Given the description of an element on the screen output the (x, y) to click on. 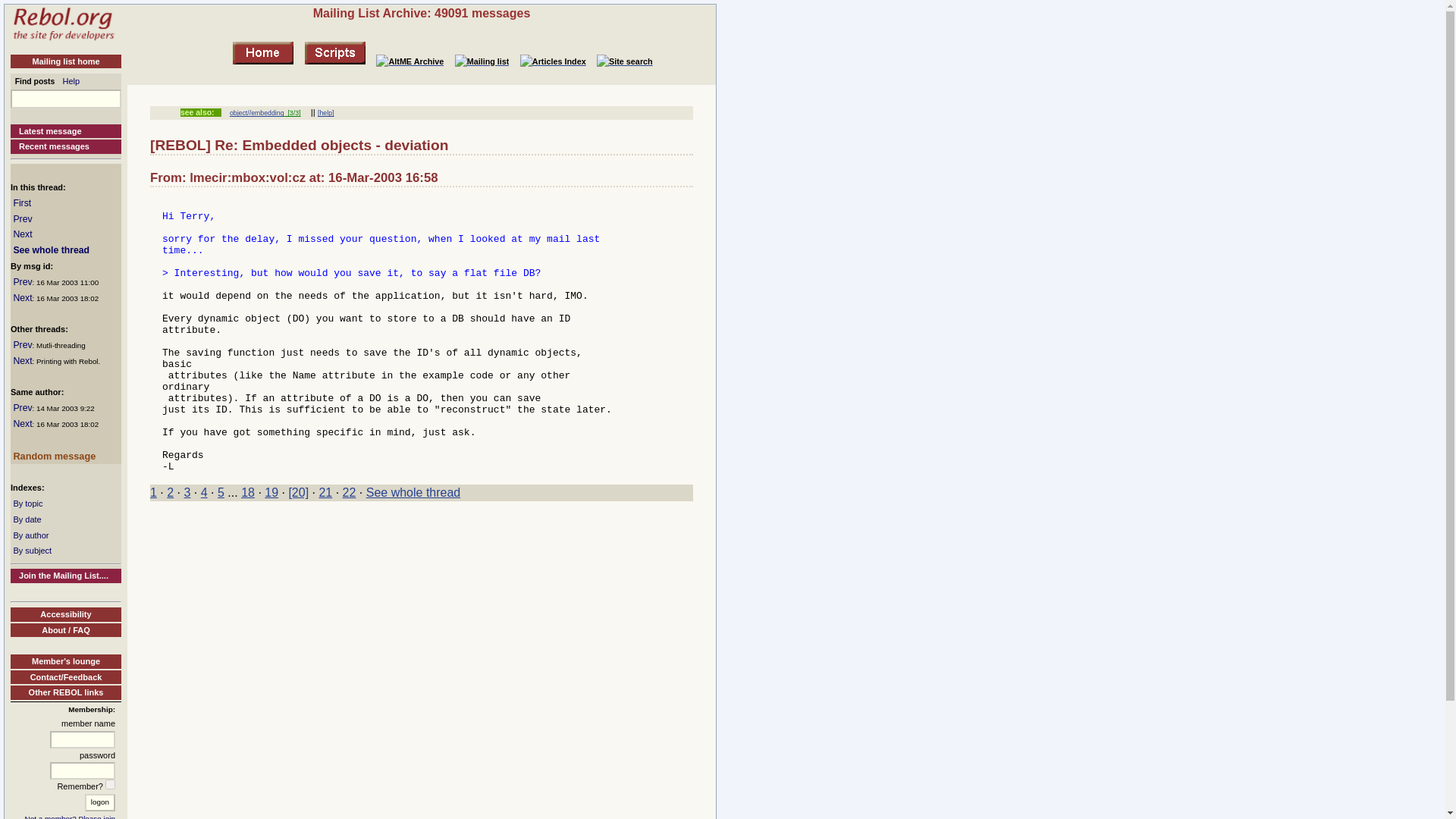
By subject (31, 550)
logon (99, 802)
First (21, 203)
Recent messages (65, 146)
By date (26, 519)
Mailing list home (65, 61)
Not a member? Please join (69, 816)
Random message (54, 455)
Help (71, 80)
Member's lounge (65, 661)
